Given the description of an element on the screen output the (x, y) to click on. 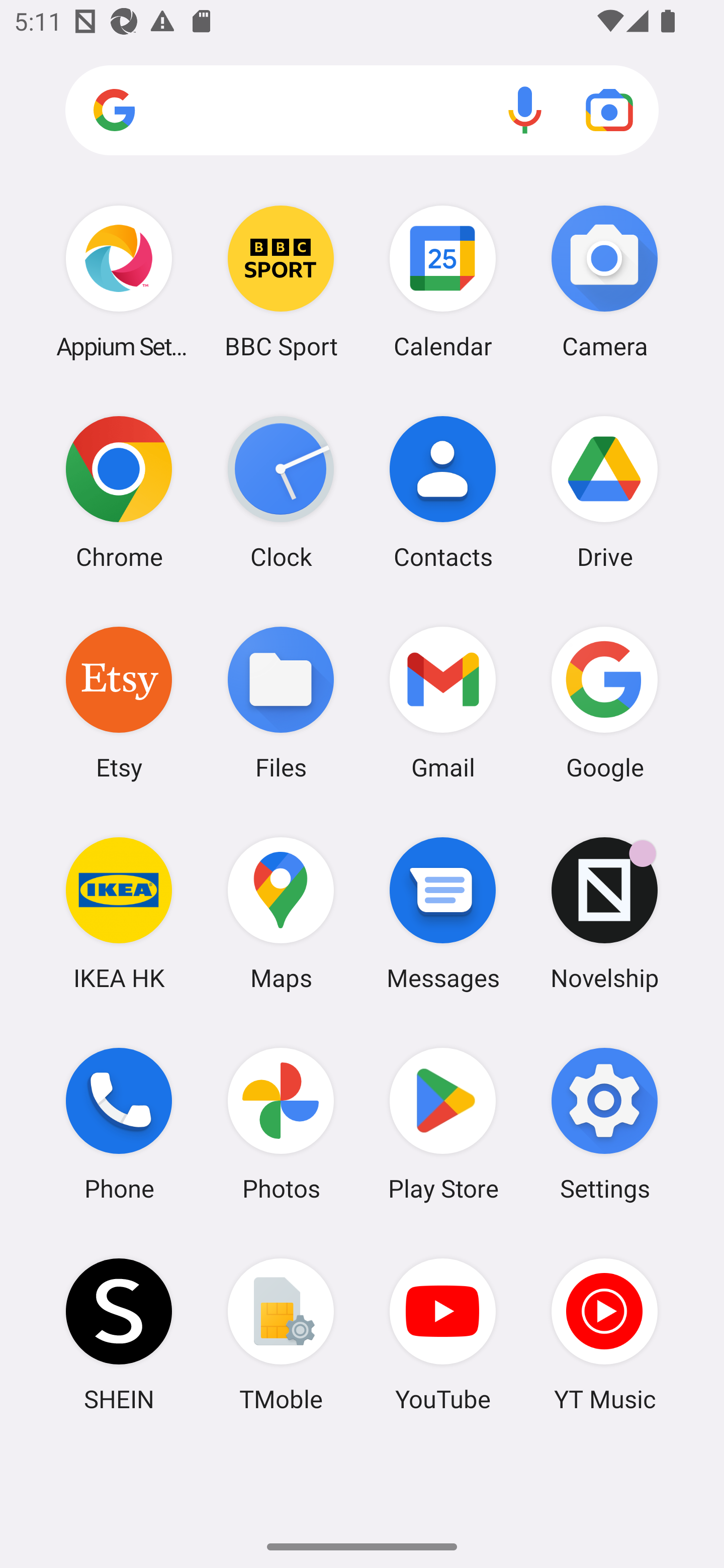
Search apps, web and more (361, 110)
Voice search (524, 109)
Google Lens (608, 109)
Appium Settings (118, 281)
BBC Sport (280, 281)
Calendar (443, 281)
Camera (604, 281)
Chrome (118, 492)
Clock (280, 492)
Contacts (443, 492)
Drive (604, 492)
Etsy (118, 702)
Files (280, 702)
Gmail (443, 702)
Google (604, 702)
IKEA HK (118, 913)
Maps (280, 913)
Messages (443, 913)
Novelship Novelship has 6 notifications (604, 913)
Phone (118, 1124)
Photos (280, 1124)
Play Store (443, 1124)
Settings (604, 1124)
SHEIN (118, 1334)
TMoble (280, 1334)
YouTube (443, 1334)
YT Music (604, 1334)
